Given the description of an element on the screen output the (x, y) to click on. 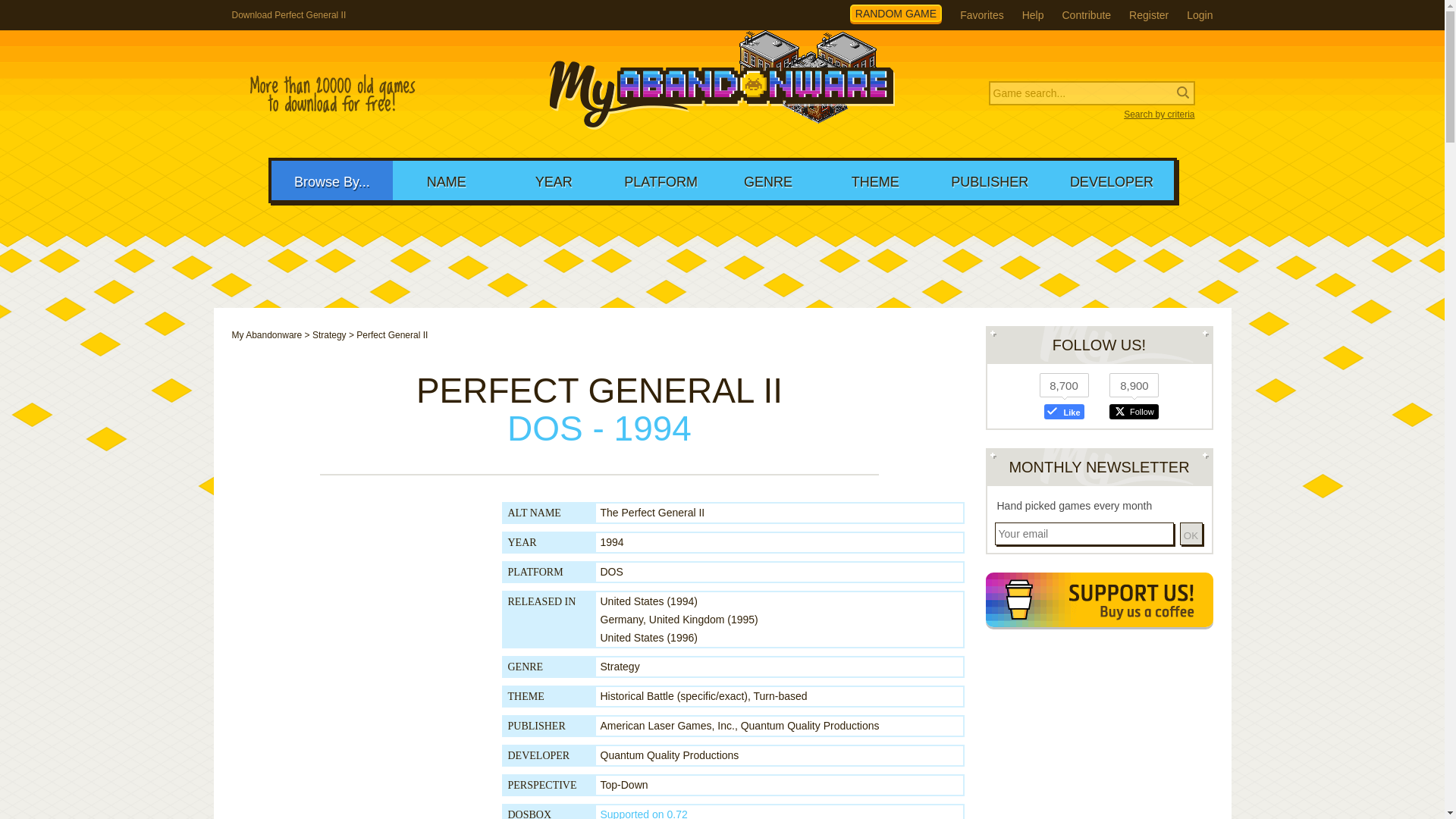
Contribute (1085, 14)
My Abandonware (266, 335)
Browse games of this genre (619, 666)
Login (1199, 14)
RANDOM GAME (896, 13)
Quantum Quality Productions (669, 755)
Strategy (329, 335)
Browse games of this theme (673, 695)
Strategy (619, 666)
Register (1149, 14)
NAME (446, 179)
Ad-free browsing included (1098, 602)
GENRE (767, 179)
Turn-based (781, 695)
1994 (611, 541)
